Given the description of an element on the screen output the (x, y) to click on. 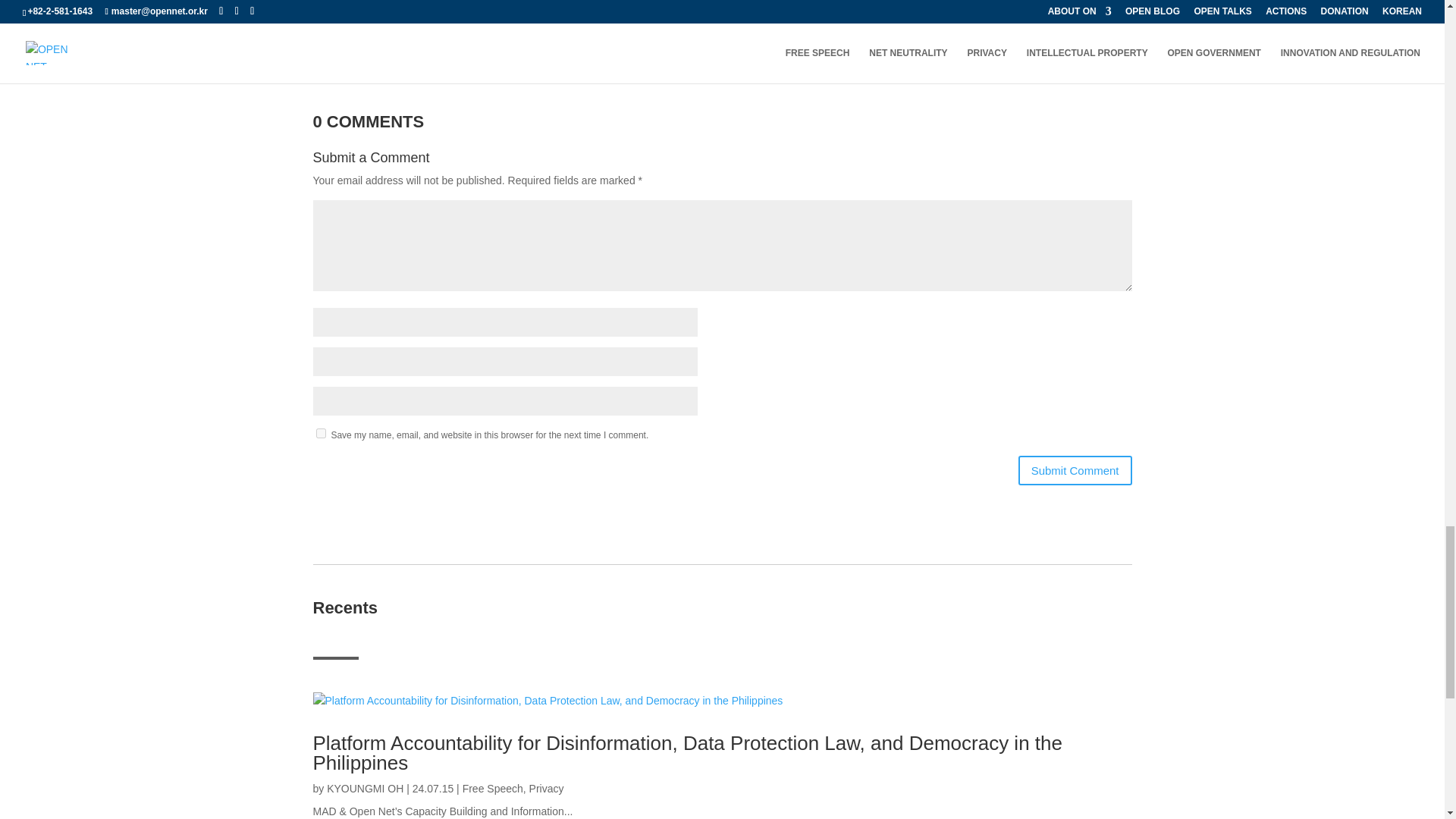
yes (319, 433)
Posts by KYOUNGMI OH (364, 788)
